Given the description of an element on the screen output the (x, y) to click on. 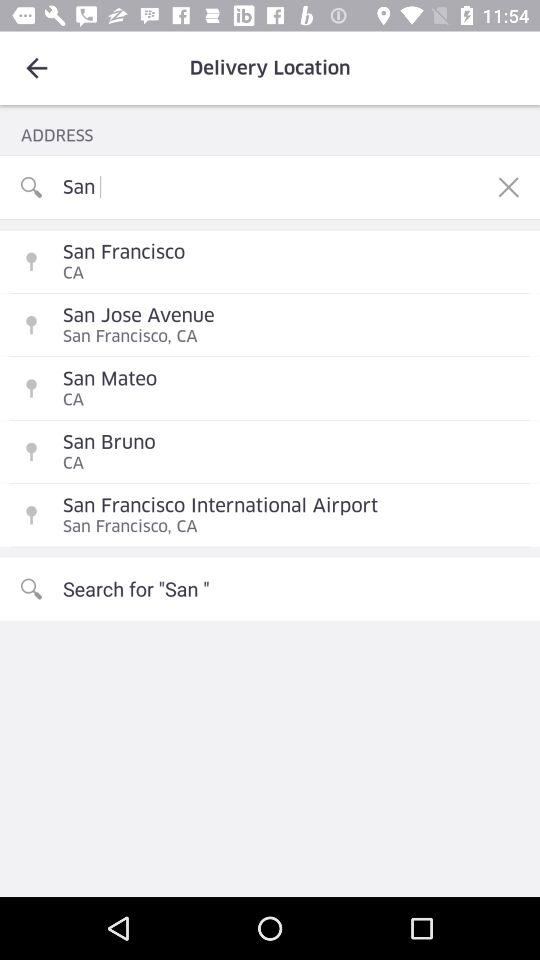
open the icon next to the san  item (508, 187)
